Given the description of an element on the screen output the (x, y) to click on. 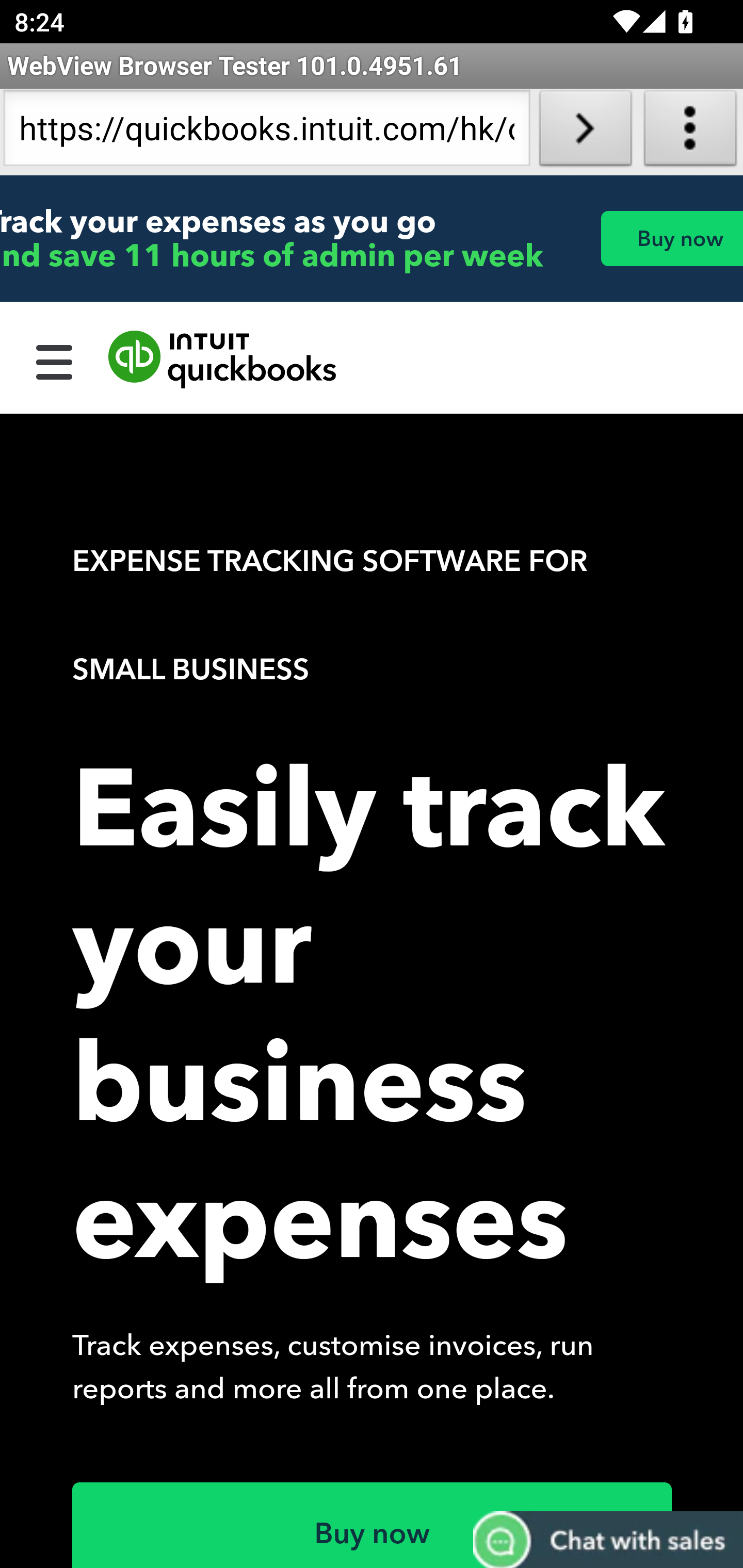
Load URL (585, 132)
About WebView (690, 132)
Buy now (671, 238)
quickbooks-mobile-burger (54, 359)
quickbooks (222, 359)
Buy now (372, 1524)
